Given the description of an element on the screen output the (x, y) to click on. 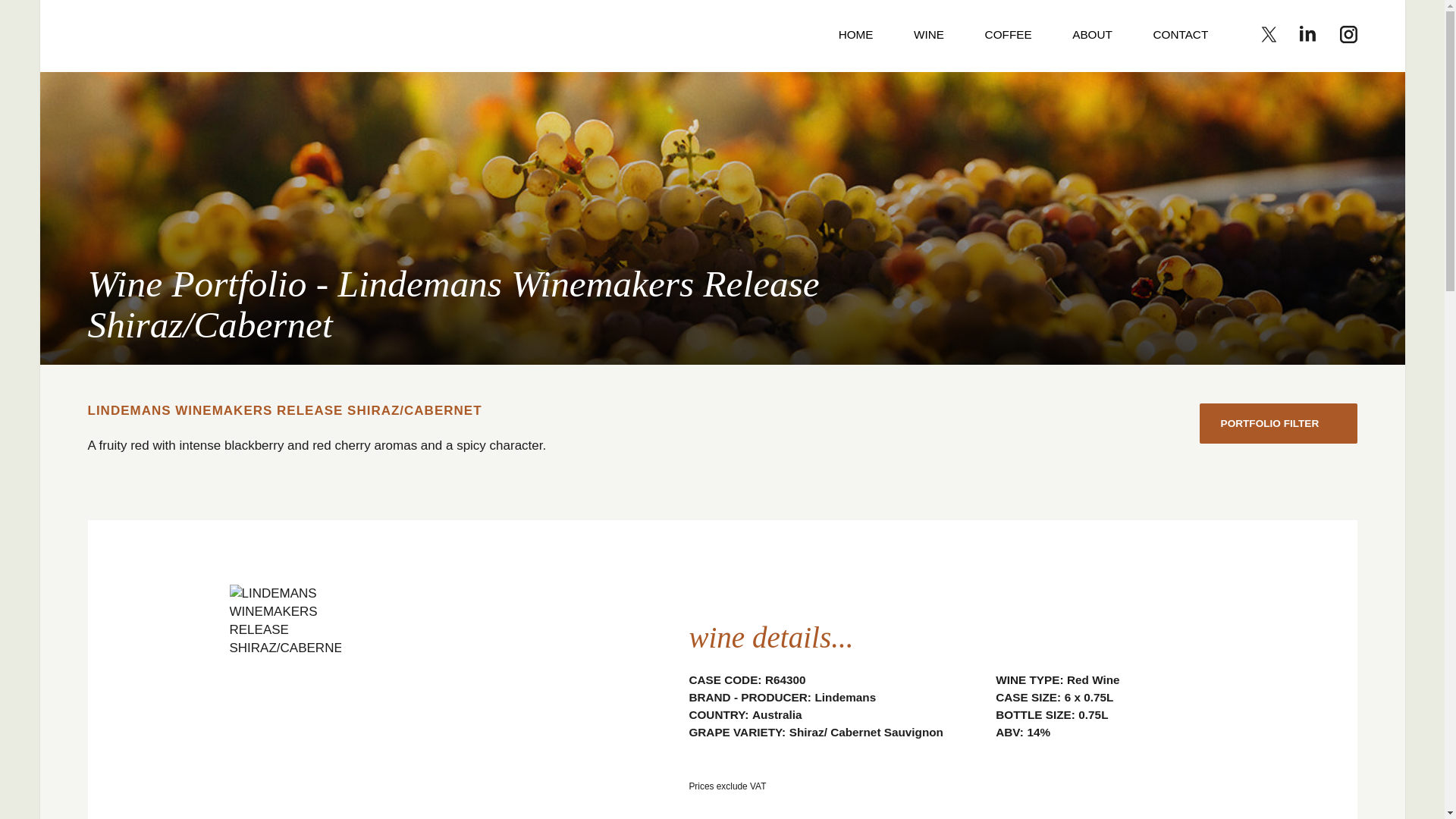
CONTACT (1180, 35)
PORTFOLIO FILTER (1277, 423)
HOME (855, 35)
WINE (928, 35)
ABOUT (1091, 35)
COFFEE (1008, 35)
